Given the description of an element on the screen output the (x, y) to click on. 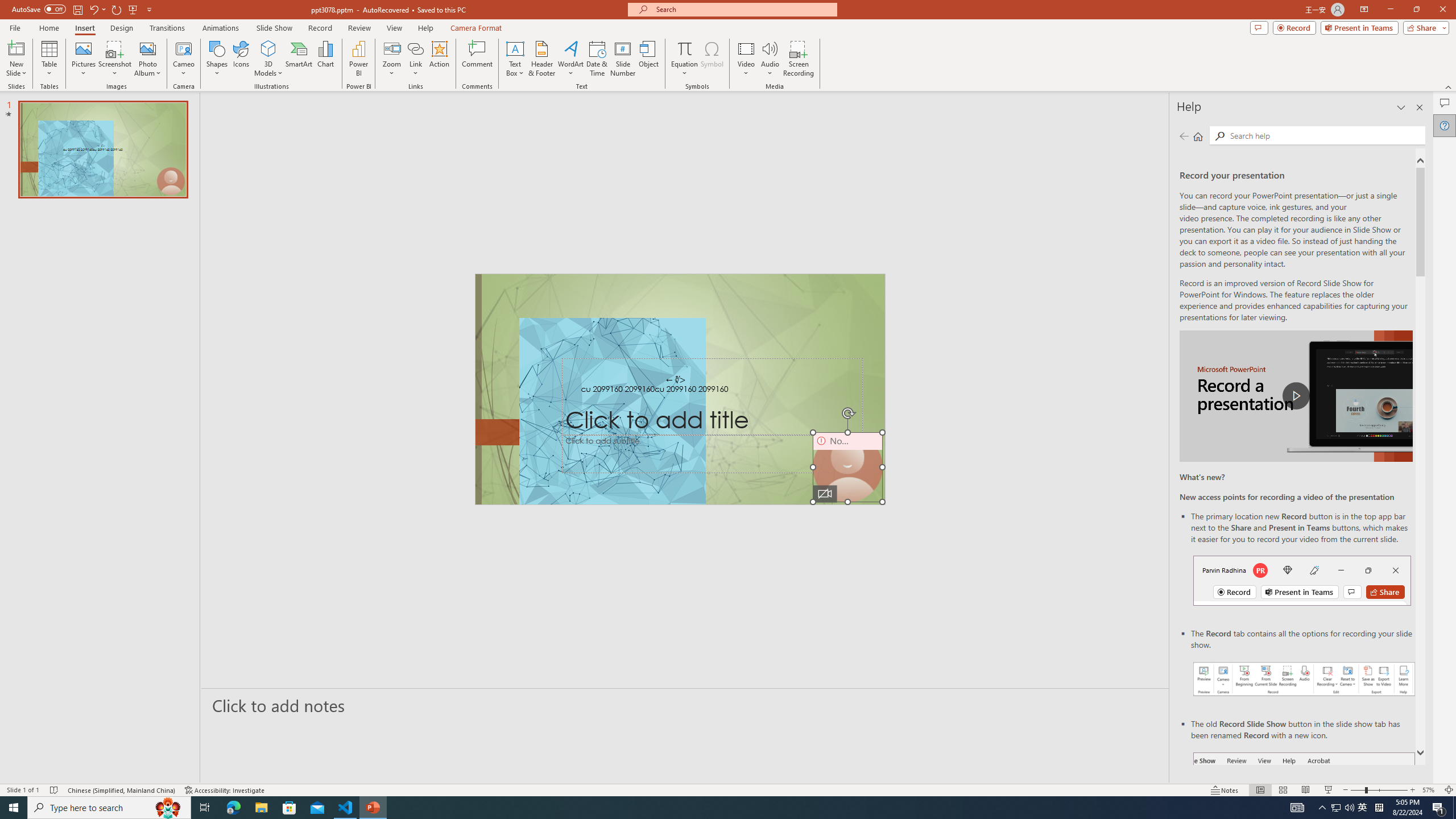
TextBox 61 (679, 390)
Audio (769, 58)
